Given the description of an element on the screen output the (x, y) to click on. 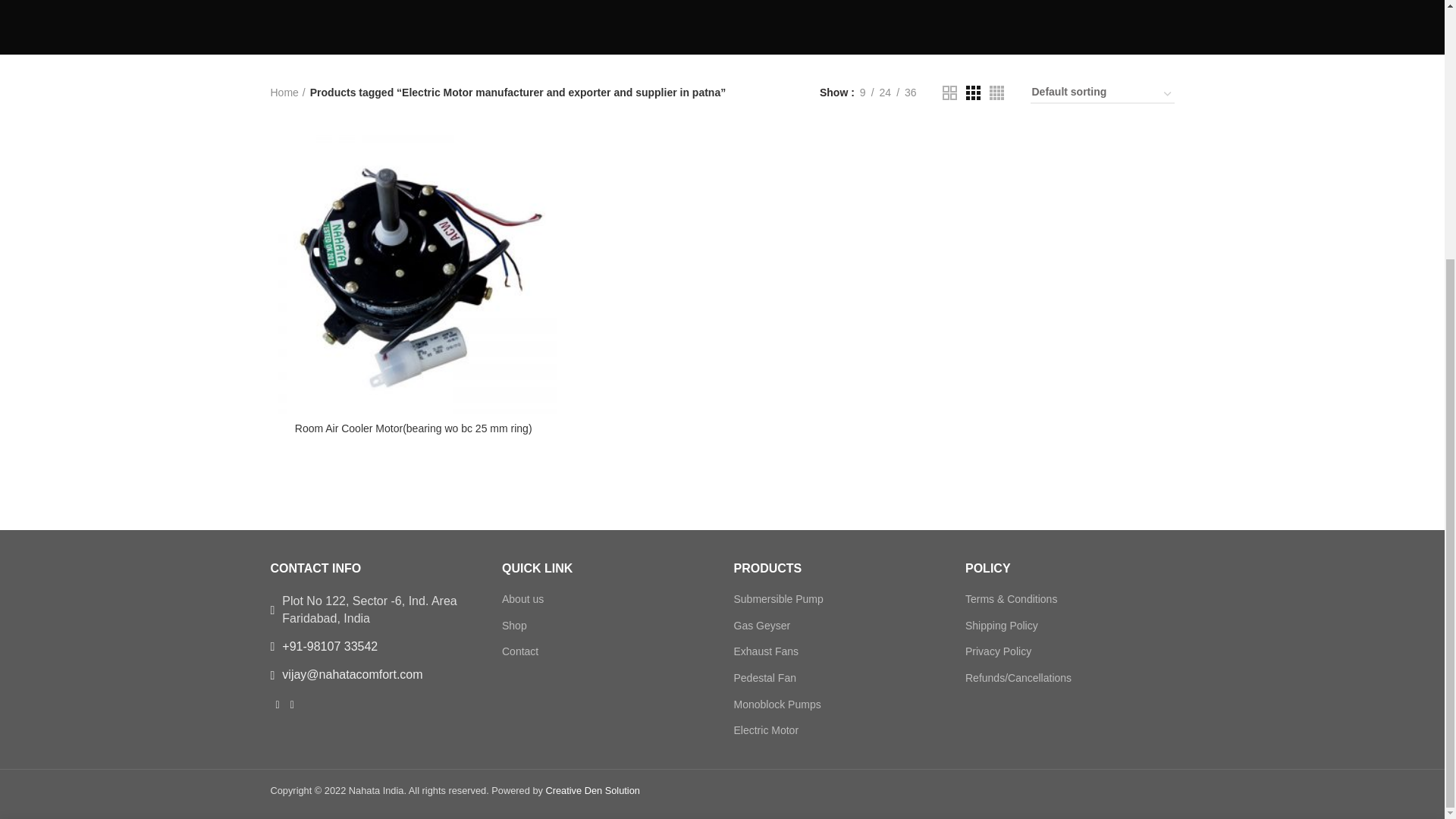
website designing company in faridabad (363, 4)
